Given the description of an element on the screen output the (x, y) to click on. 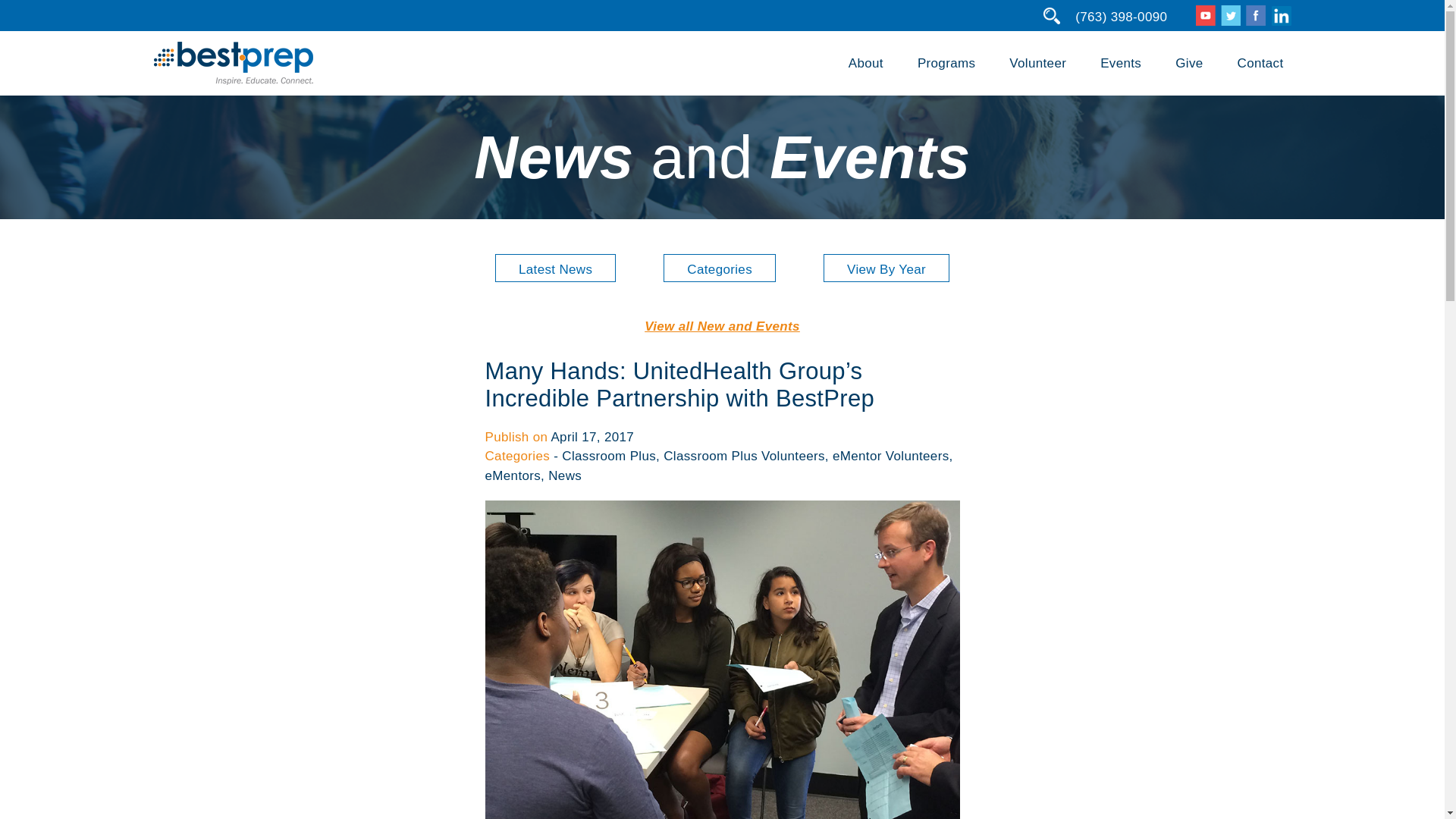
BestPrep (232, 80)
BestPrep (232, 63)
Volunteer (1037, 63)
Give (1188, 63)
Events (1120, 63)
Programs (946, 63)
Contact (1260, 63)
About (866, 63)
Search (21, 7)
